Given the description of an element on the screen output the (x, y) to click on. 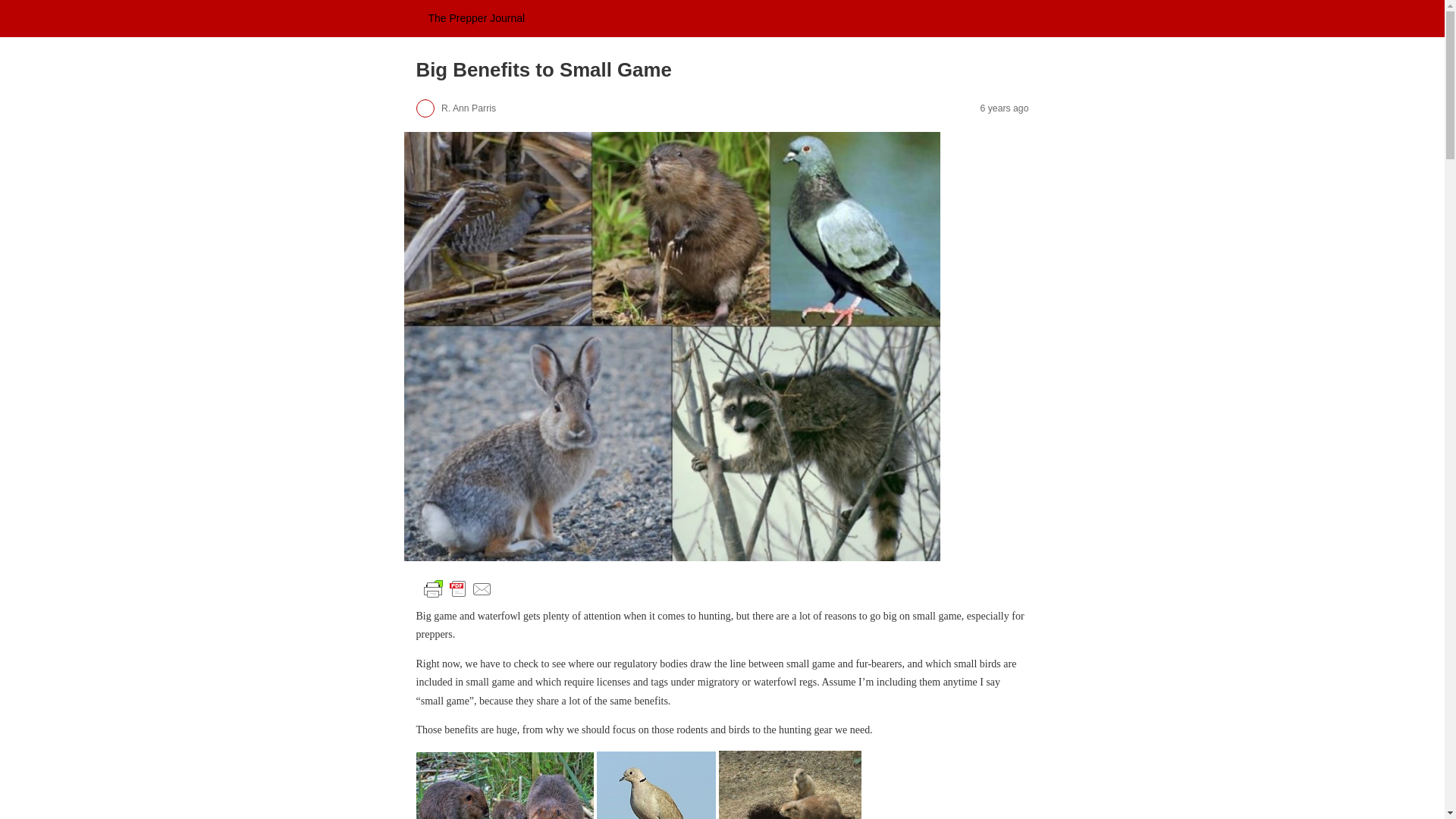
Big Benefits to Small Game 4 (790, 785)
Big Benefits to Small Game 2 (504, 785)
Big Benefits to Small Game 1 (456, 589)
The Prepper Journal (476, 18)
Big Benefits to Small Game 3 (656, 785)
